Given the description of an element on the screen output the (x, y) to click on. 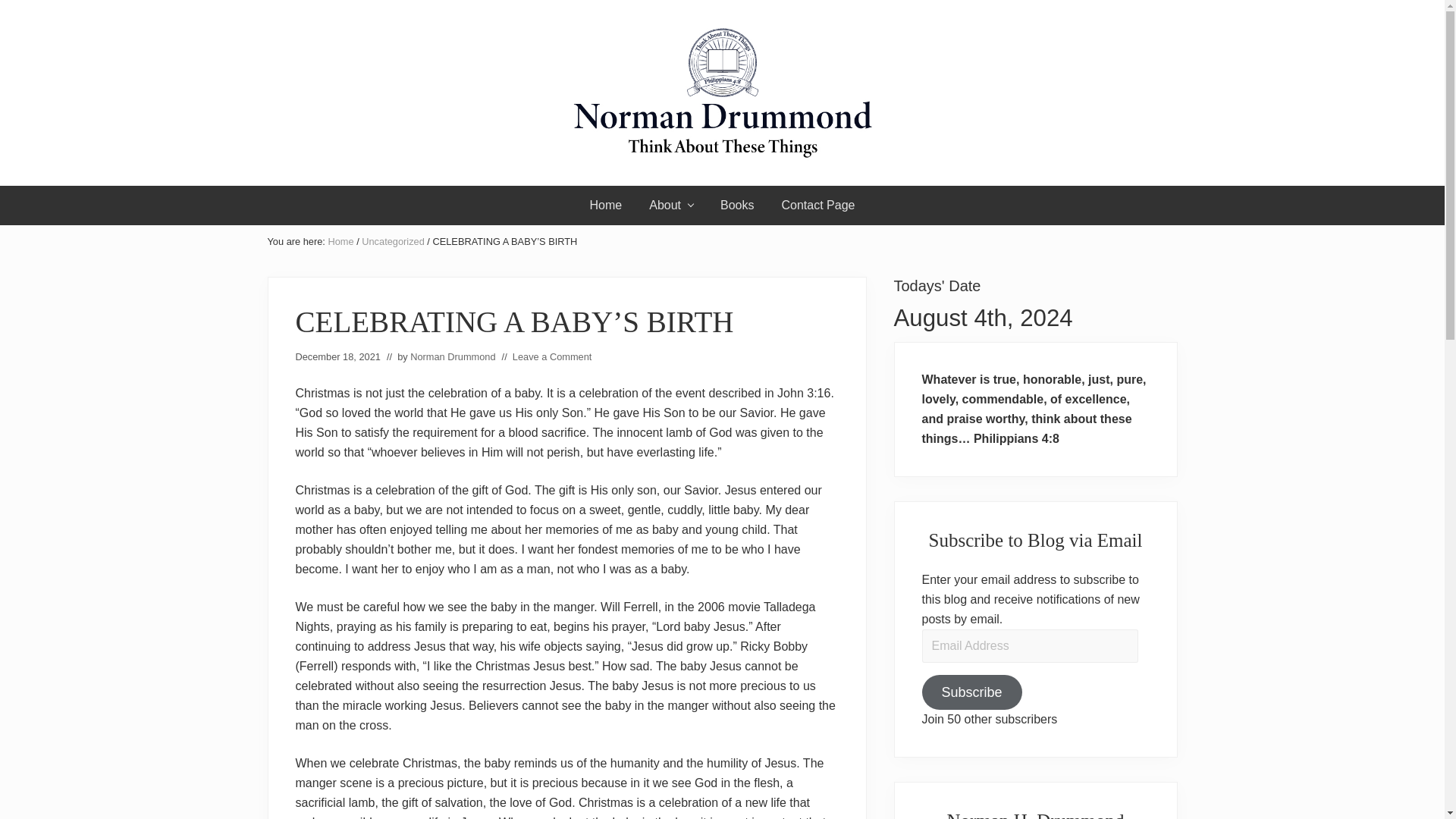
Leave a Comment (552, 356)
Home (606, 205)
Books (736, 205)
Home (340, 241)
Subscribe (971, 692)
About (670, 205)
Contact Page (817, 205)
Uncategorized (393, 241)
Norman Drummond (452, 356)
Leave a Comment (552, 356)
